Given the description of an element on the screen output the (x, y) to click on. 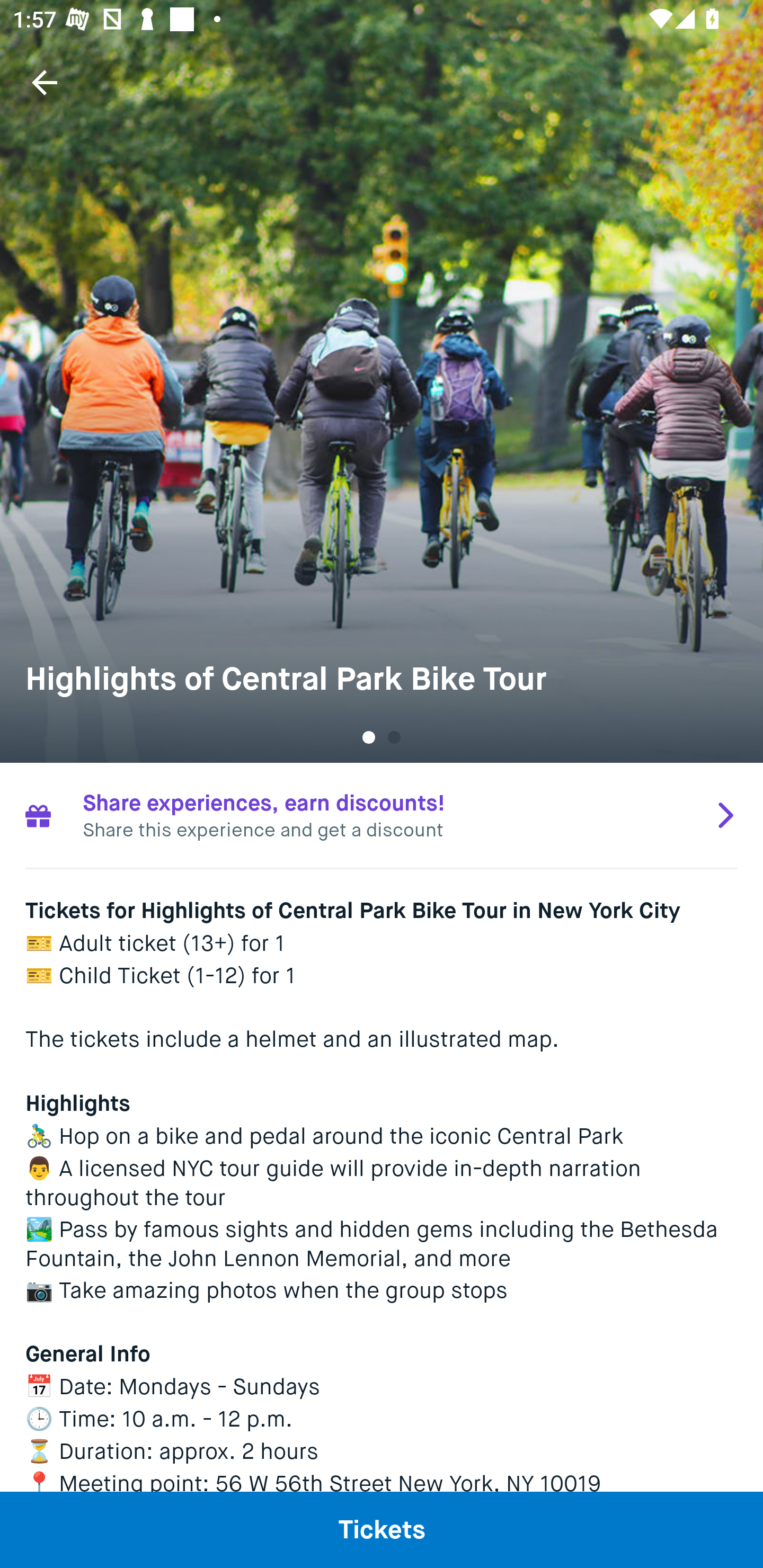
Navigate up (44, 82)
Tickets (381, 1529)
